Given the description of an element on the screen output the (x, y) to click on. 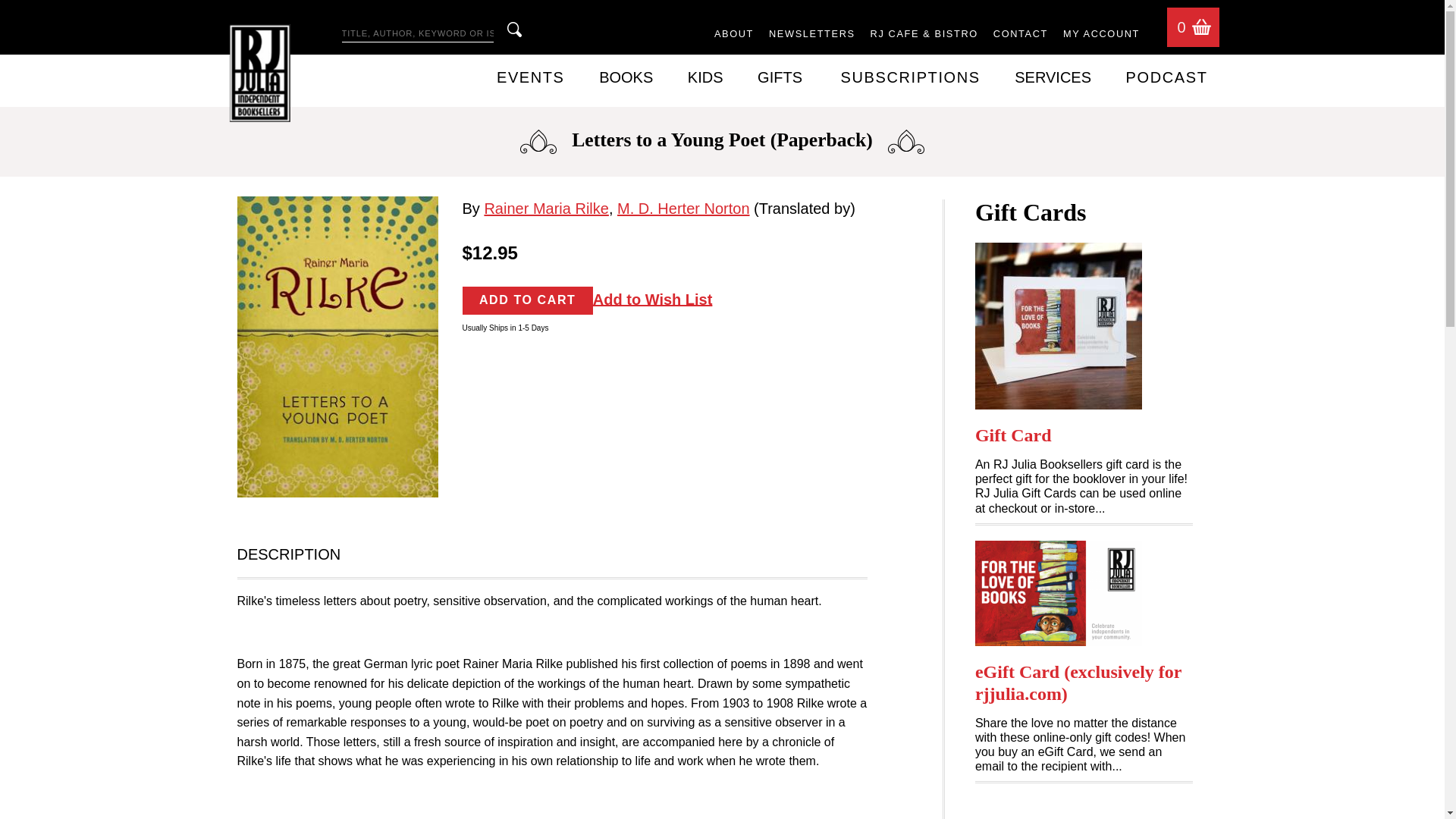
Add to Cart (527, 300)
ABOUT (734, 35)
SUBSCRIPTIONS (910, 76)
NEWSLETTERS (812, 35)
Search (514, 29)
EVENTS (530, 76)
Enter the terms you wish to search for. (416, 34)
Search (514, 29)
CONTACT (1020, 35)
MY ACCOUNT (1101, 35)
